Given the description of an element on the screen output the (x, y) to click on. 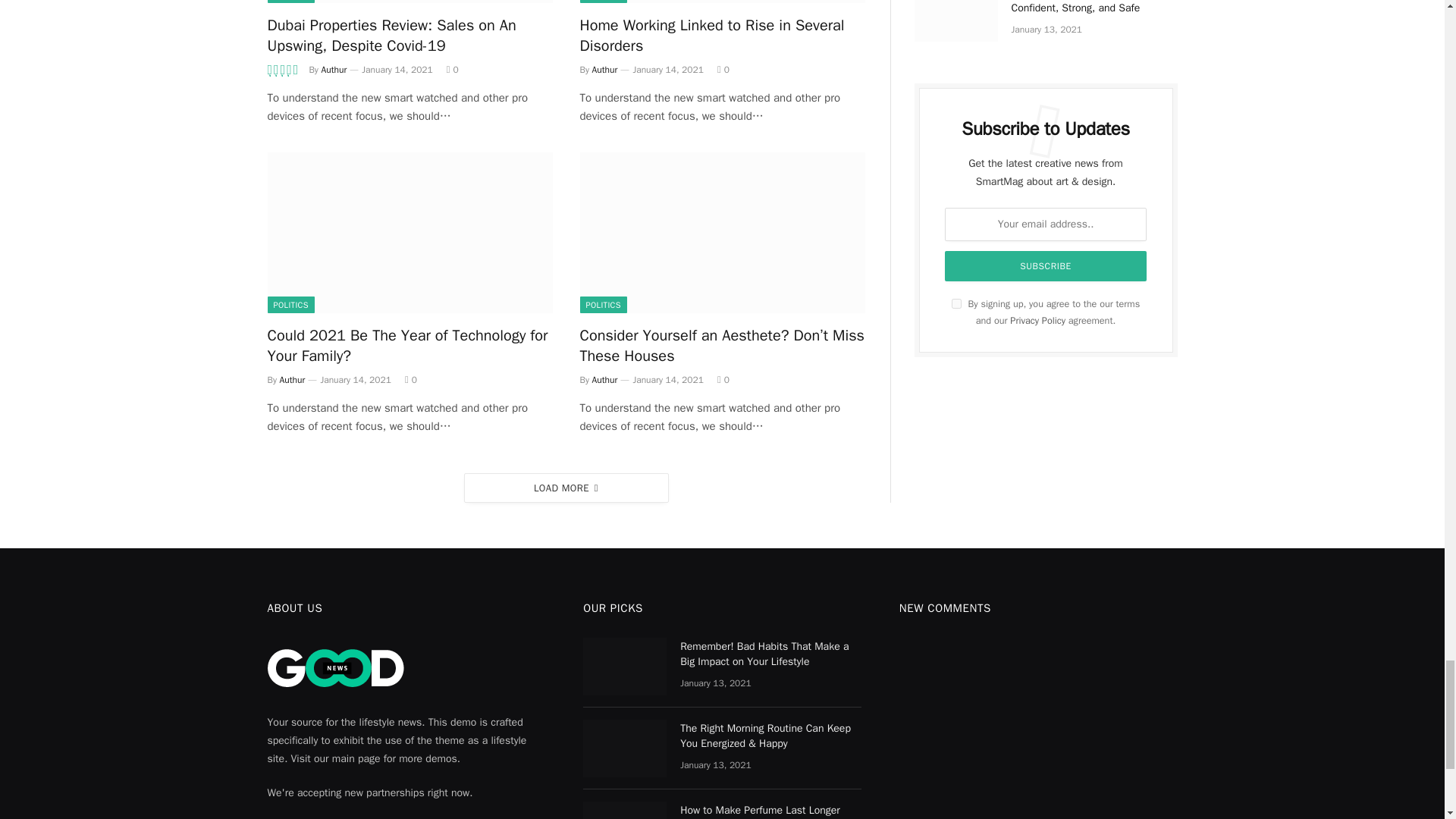
Subscribe (1045, 265)
on (956, 303)
